Given the description of an element on the screen output the (x, y) to click on. 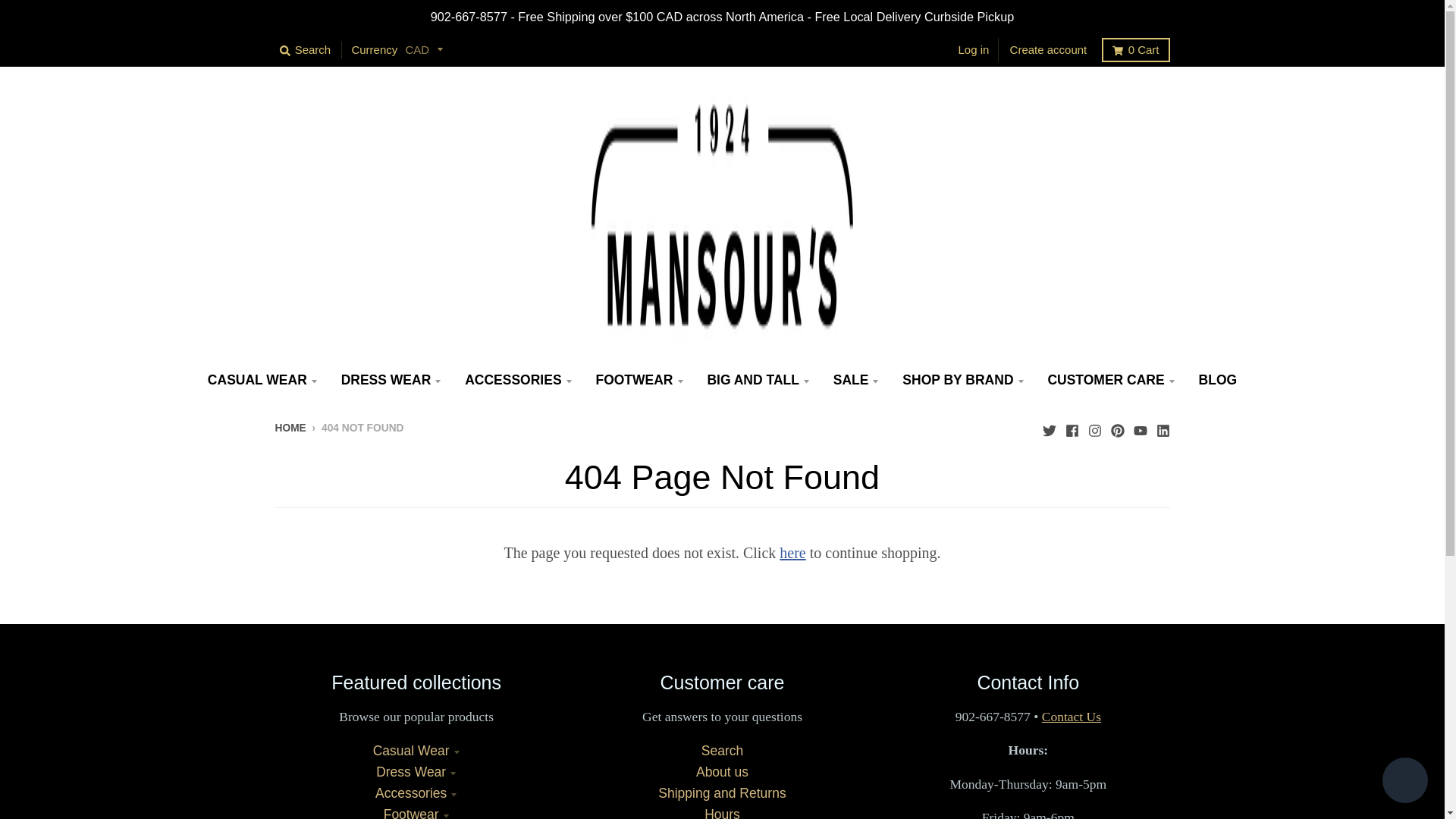
DRESS WEAR (391, 379)
Log in (973, 49)
Facebook - Mansour's Menswear (1071, 427)
LinkedIn - Mansour's Menswear (1162, 427)
Pinterest - Mansour's Menswear (1116, 427)
0 Cart (1135, 49)
CASUAL WEAR (262, 379)
Create account (1049, 49)
Shopify online store chat (1404, 781)
Instagram - Mansour's Menswear (1093, 427)
